Given the description of an element on the screen output the (x, y) to click on. 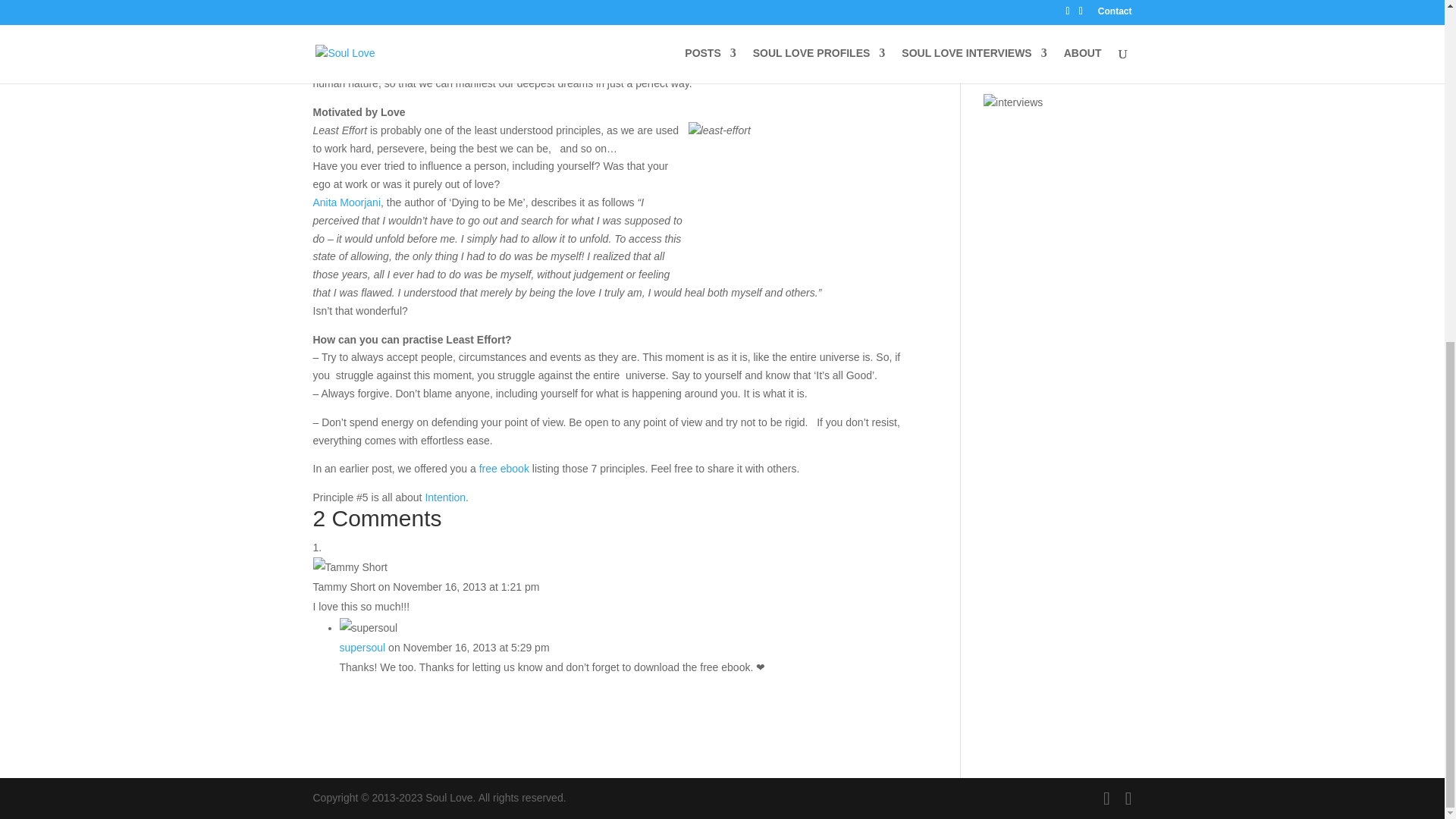
Intention (445, 497)
Anita Moorjani (346, 202)
Page 11 (614, 445)
Happy Living Free ebook (504, 468)
